Given the description of an element on the screen output the (x, y) to click on. 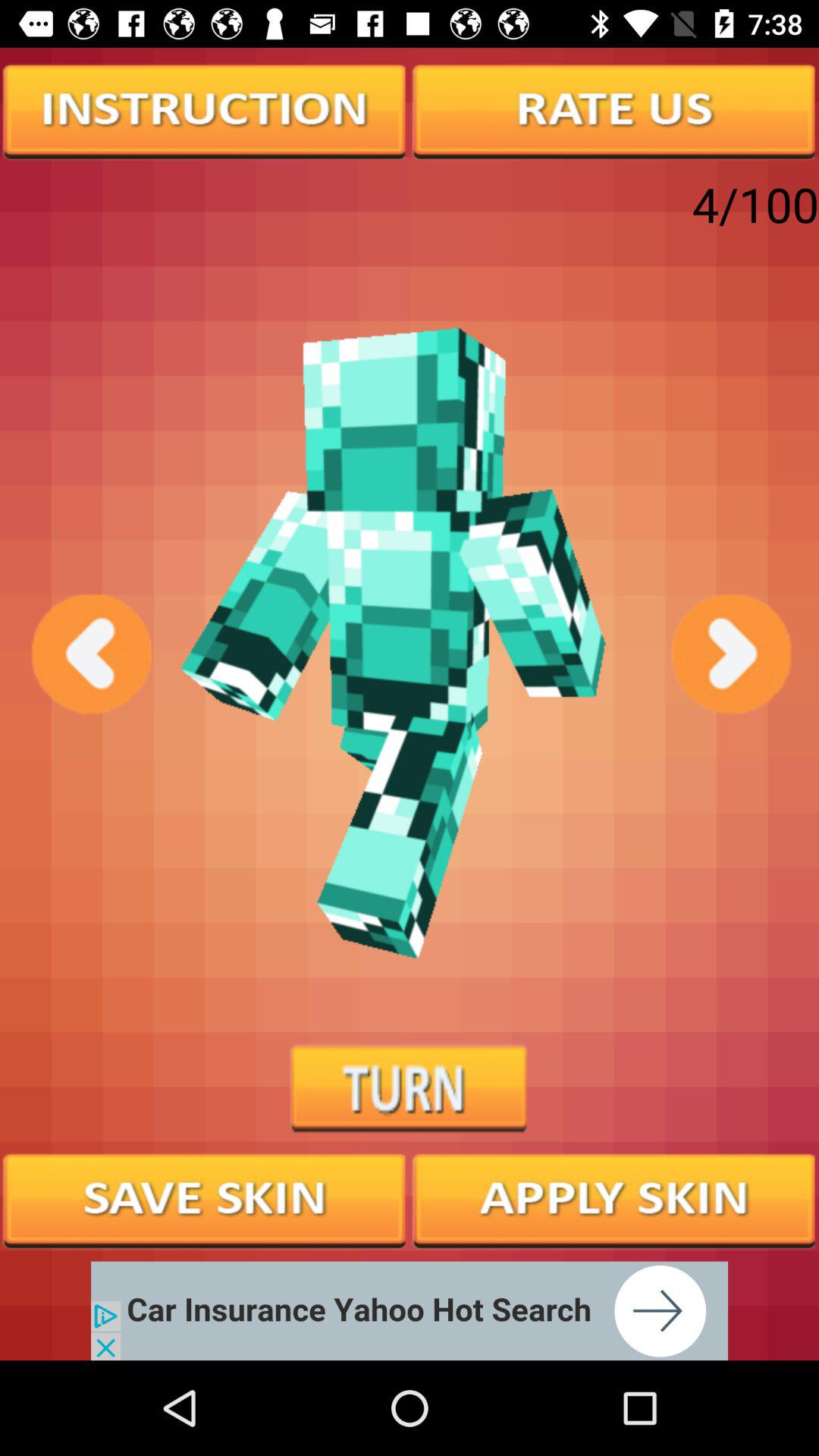
rate the application (614, 109)
